Given the description of an element on the screen output the (x, y) to click on. 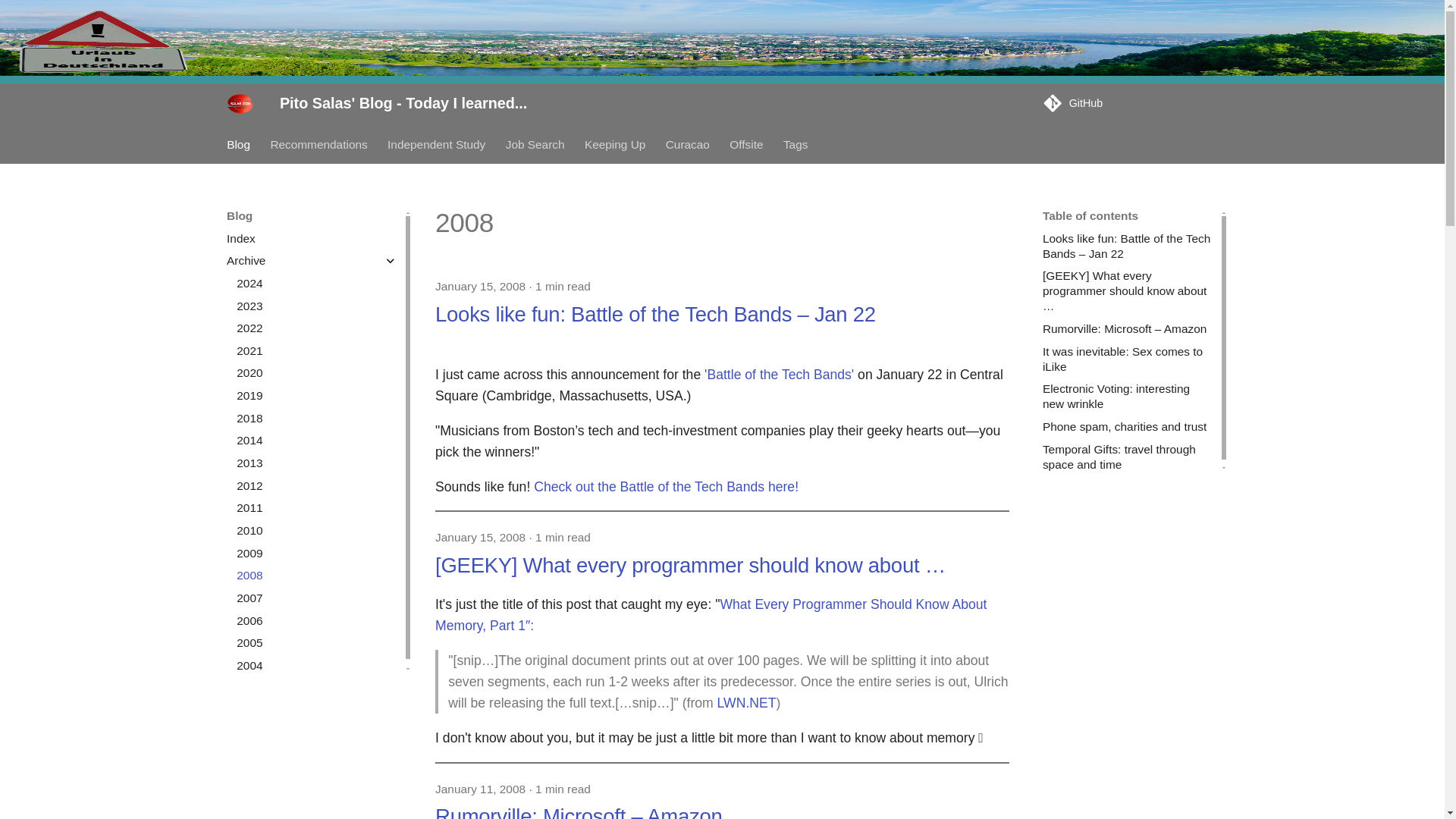
Curacao (687, 143)
2019 (316, 395)
2020 (316, 372)
2023 (316, 305)
Job Search (534, 143)
Go to repository (1129, 103)
Recommendations (317, 143)
2018 (316, 418)
2008 (316, 575)
Tags (795, 143)
